Given the description of an element on the screen output the (x, y) to click on. 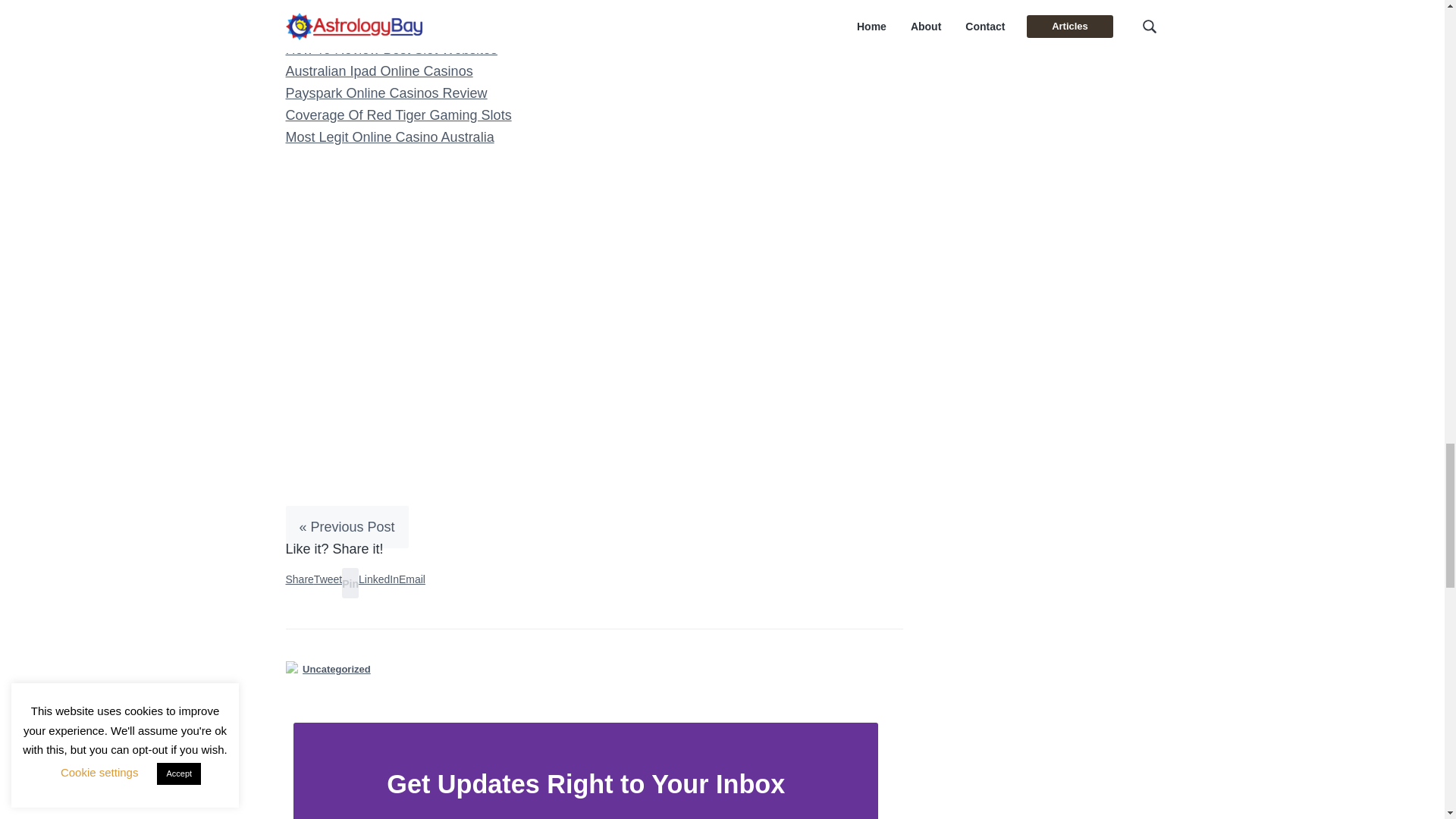
Coverage Of Red Tiger Gaming Slots (398, 114)
Best Online Slots Released In 2023 (392, 6)
Payspark Online Casinos Review (385, 92)
Most Legit Online Casino Australia (389, 136)
How To Review Best Slot Websites (390, 48)
Best Online Slots Released In 2023 (392, 6)
Payspark Online Casinos Review (385, 92)
Share (299, 579)
LinkedIn (378, 579)
Share on LinkedIn (378, 579)
